Given the description of an element on the screen output the (x, y) to click on. 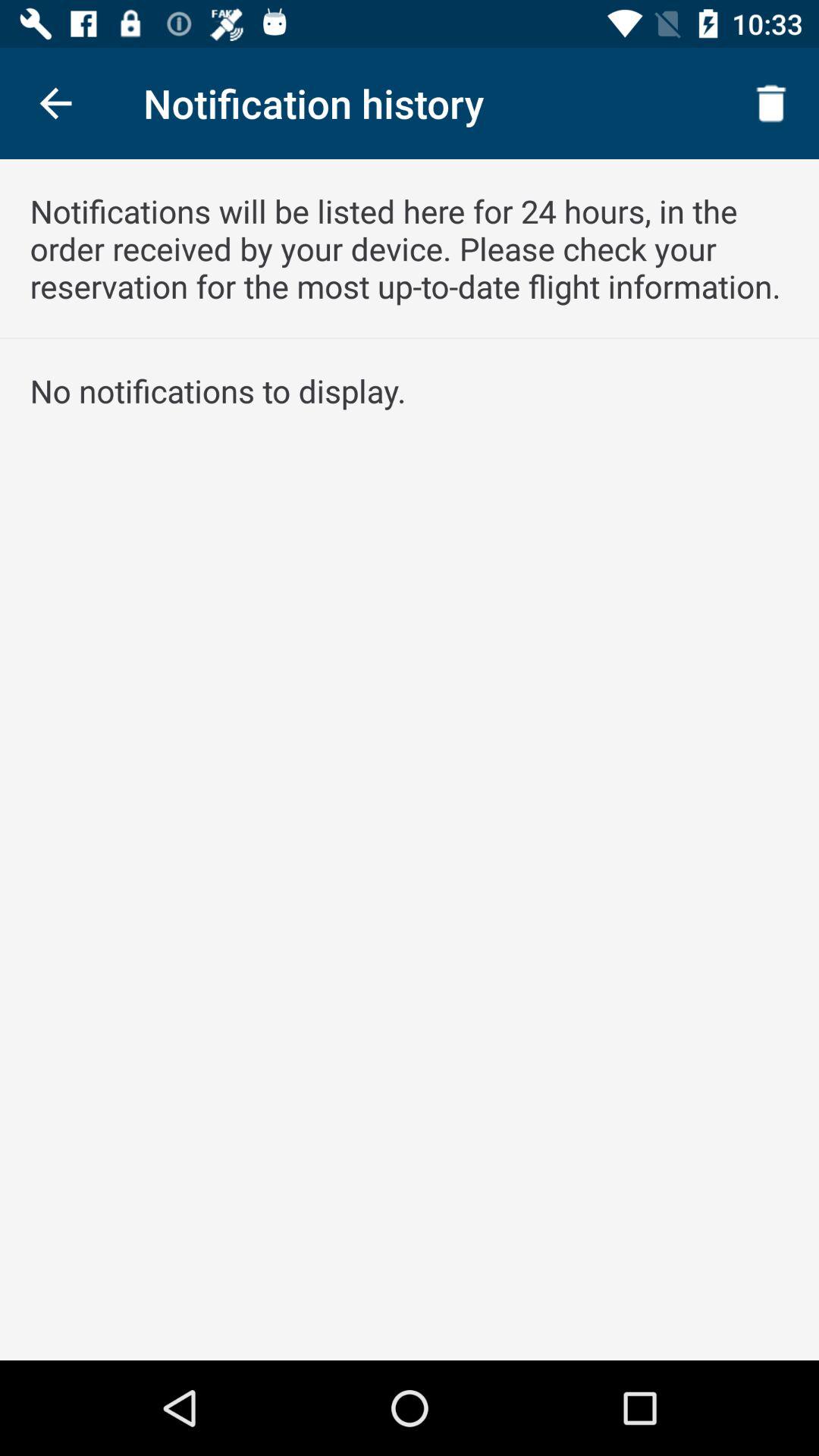
select item at the top left corner (55, 103)
